Given the description of an element on the screen output the (x, y) to click on. 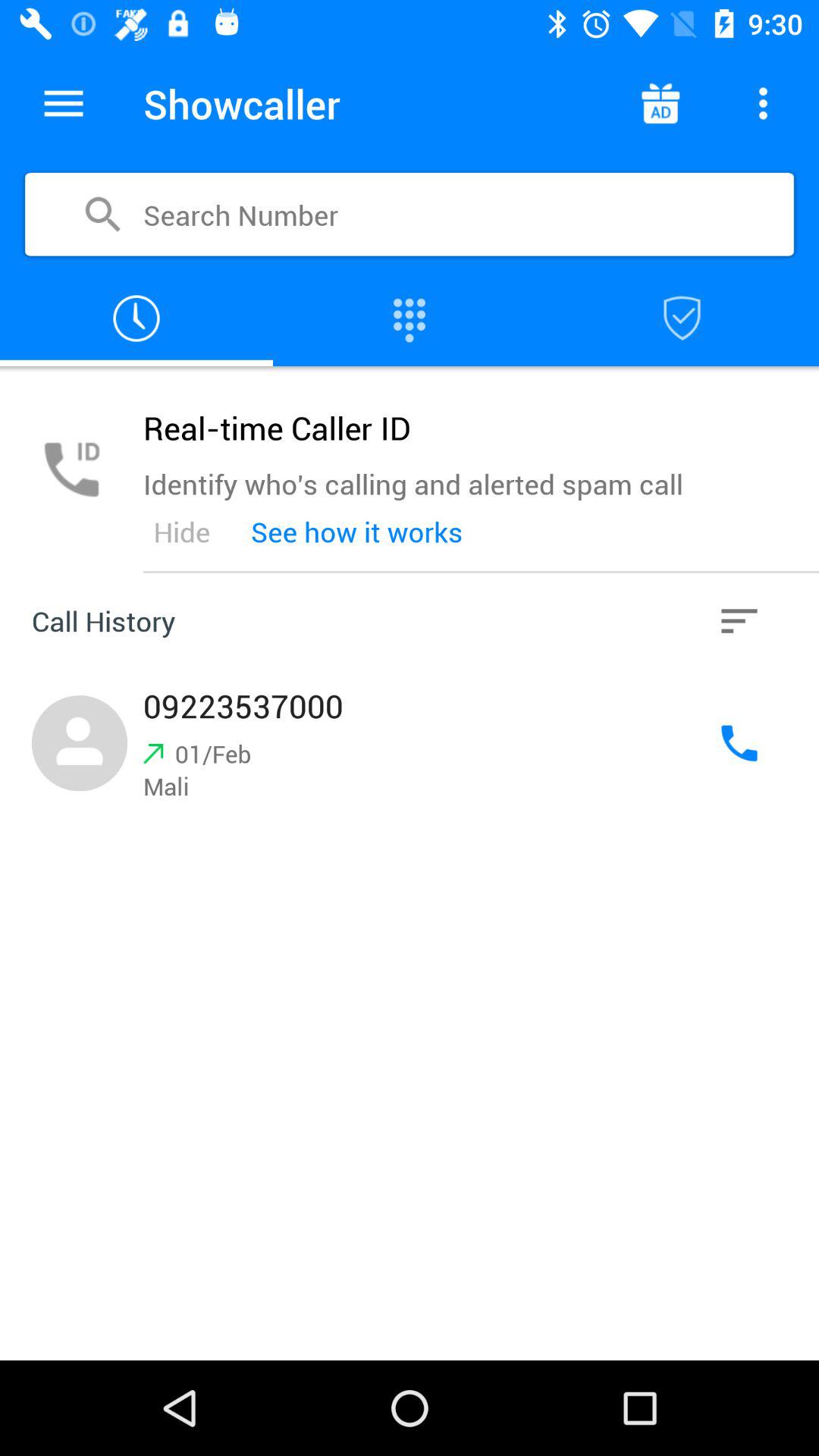
open the icon next to see how it item (739, 620)
